Given the description of an element on the screen output the (x, y) to click on. 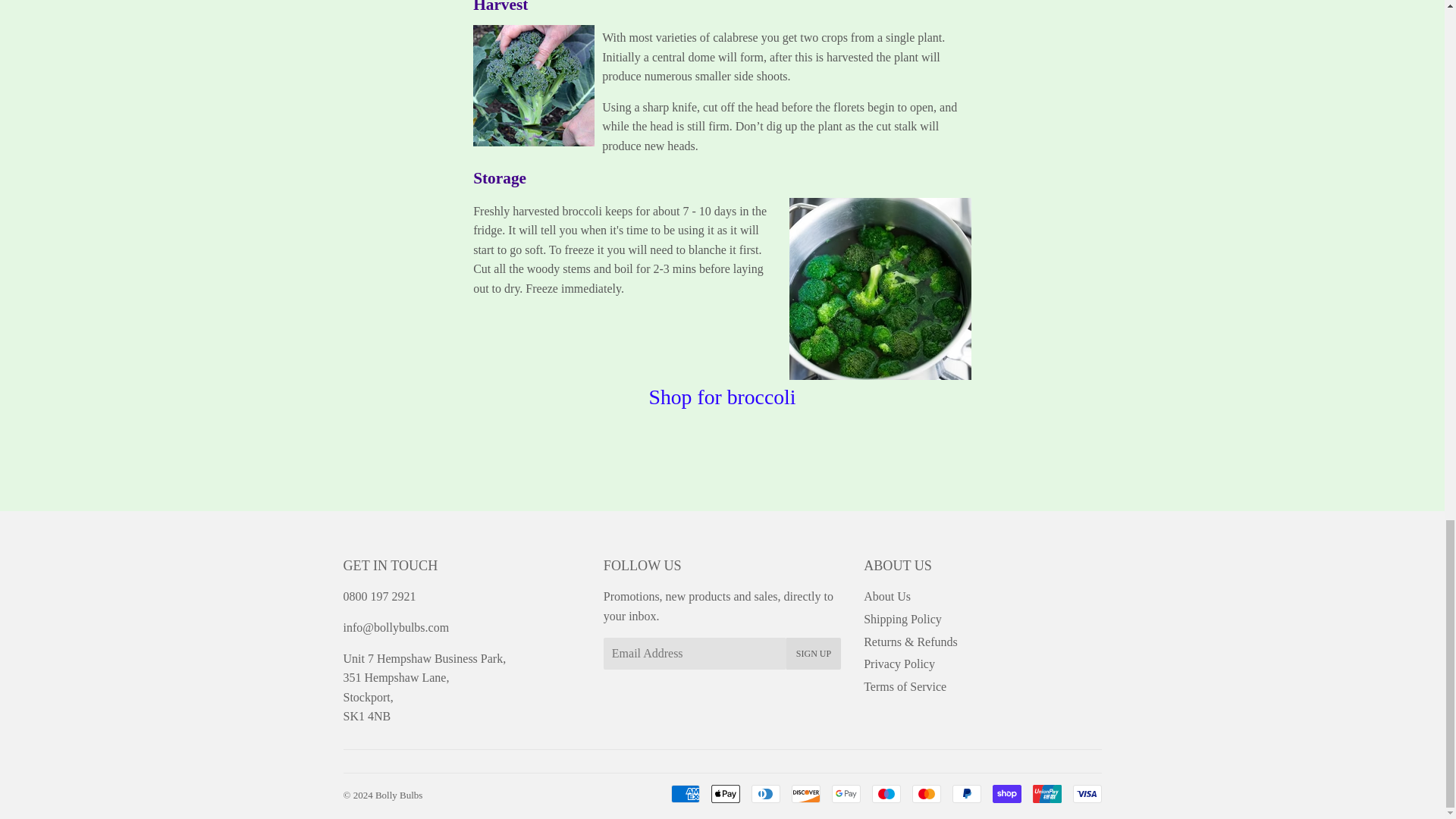
Union Pay (1046, 793)
Diners Club (764, 793)
Maestro (886, 793)
PayPal (966, 793)
Discover (806, 793)
Google Pay (845, 793)
Apple Pay (725, 793)
American Express (683, 793)
Shop Pay (1005, 793)
Mastercard (925, 793)
Visa (1085, 793)
